Given the description of an element on the screen output the (x, y) to click on. 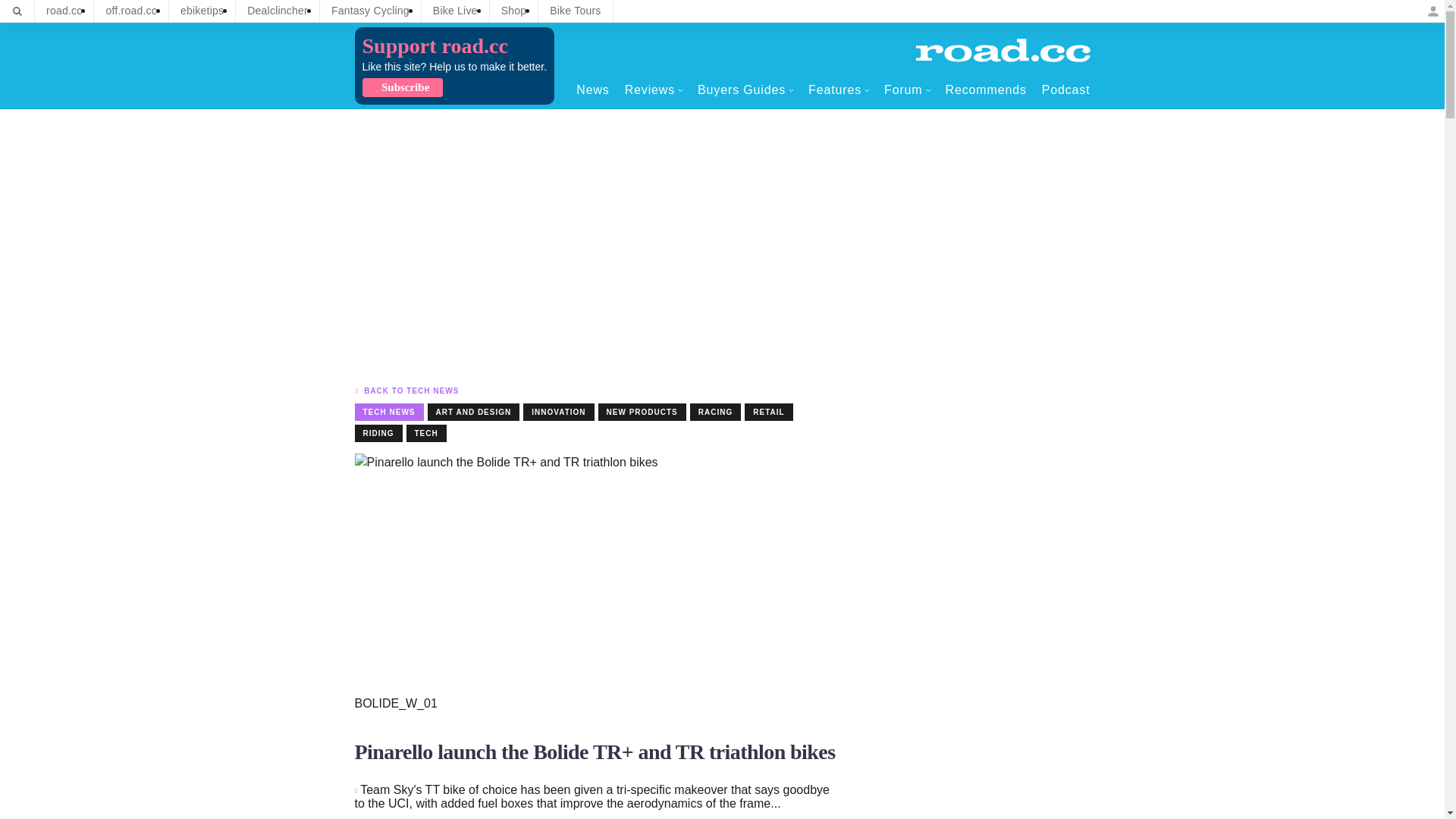
Bike Live (455, 11)
Fantasy Cycling (370, 11)
ebiketips (201, 11)
Shop (513, 11)
Home (1002, 50)
off.road.cc (131, 11)
Bike Tours (574, 11)
Dealclincher (276, 11)
Subscribe (402, 87)
Reviews (653, 89)
road.cc (63, 11)
